Given the description of an element on the screen output the (x, y) to click on. 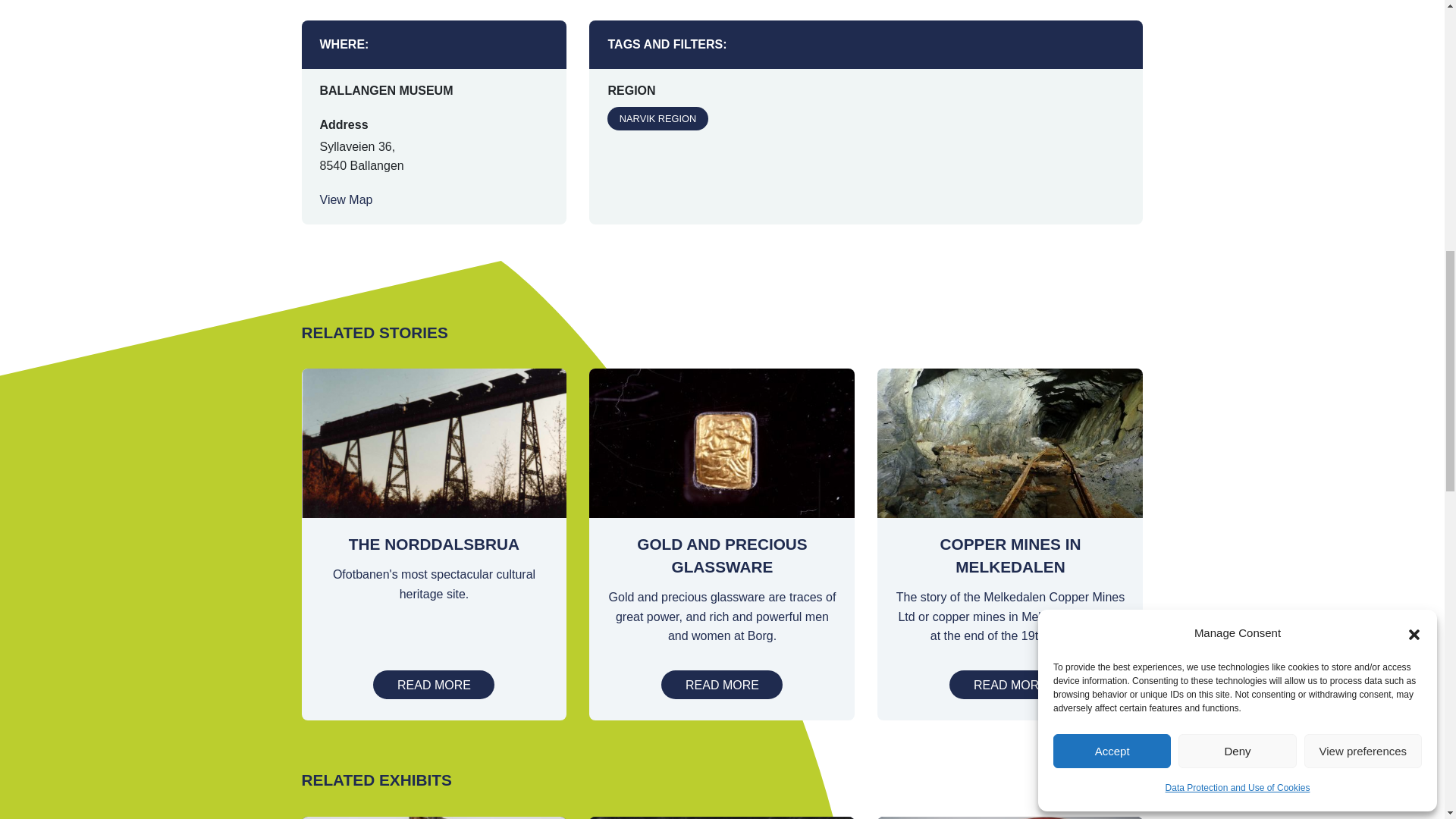
Copper mines in Melkedalen (1009, 684)
Gold and precious glassware (722, 684)
The Norddalsbrua (433, 684)
Narvik Region (657, 118)
